Given the description of an element on the screen output the (x, y) to click on. 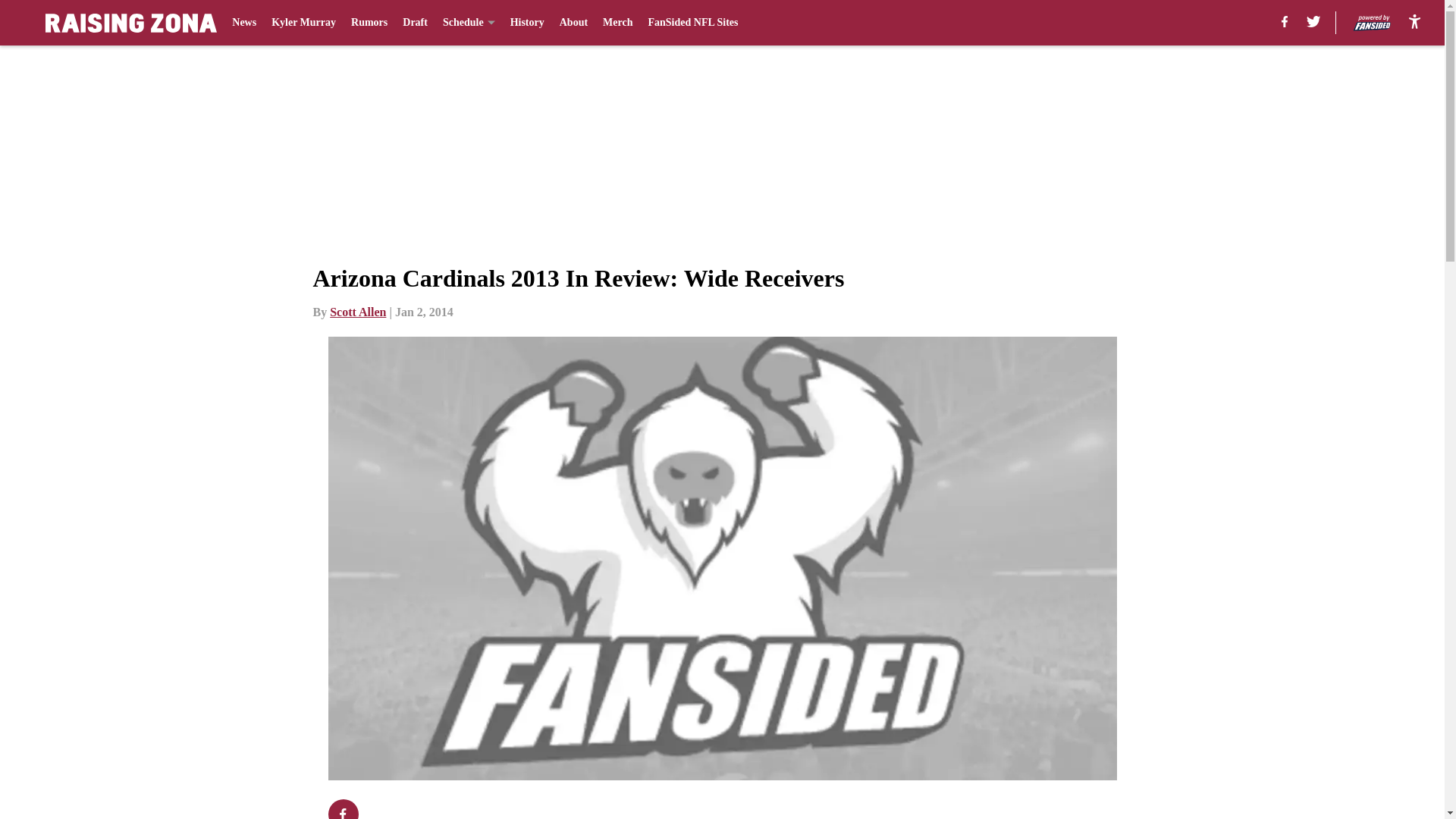
Kyler Murray (303, 22)
Rumors (368, 22)
About (573, 22)
Draft (415, 22)
History (527, 22)
Merch (616, 22)
Scott Allen (357, 311)
FanSided NFL Sites (692, 22)
News (243, 22)
